Given the description of an element on the screen output the (x, y) to click on. 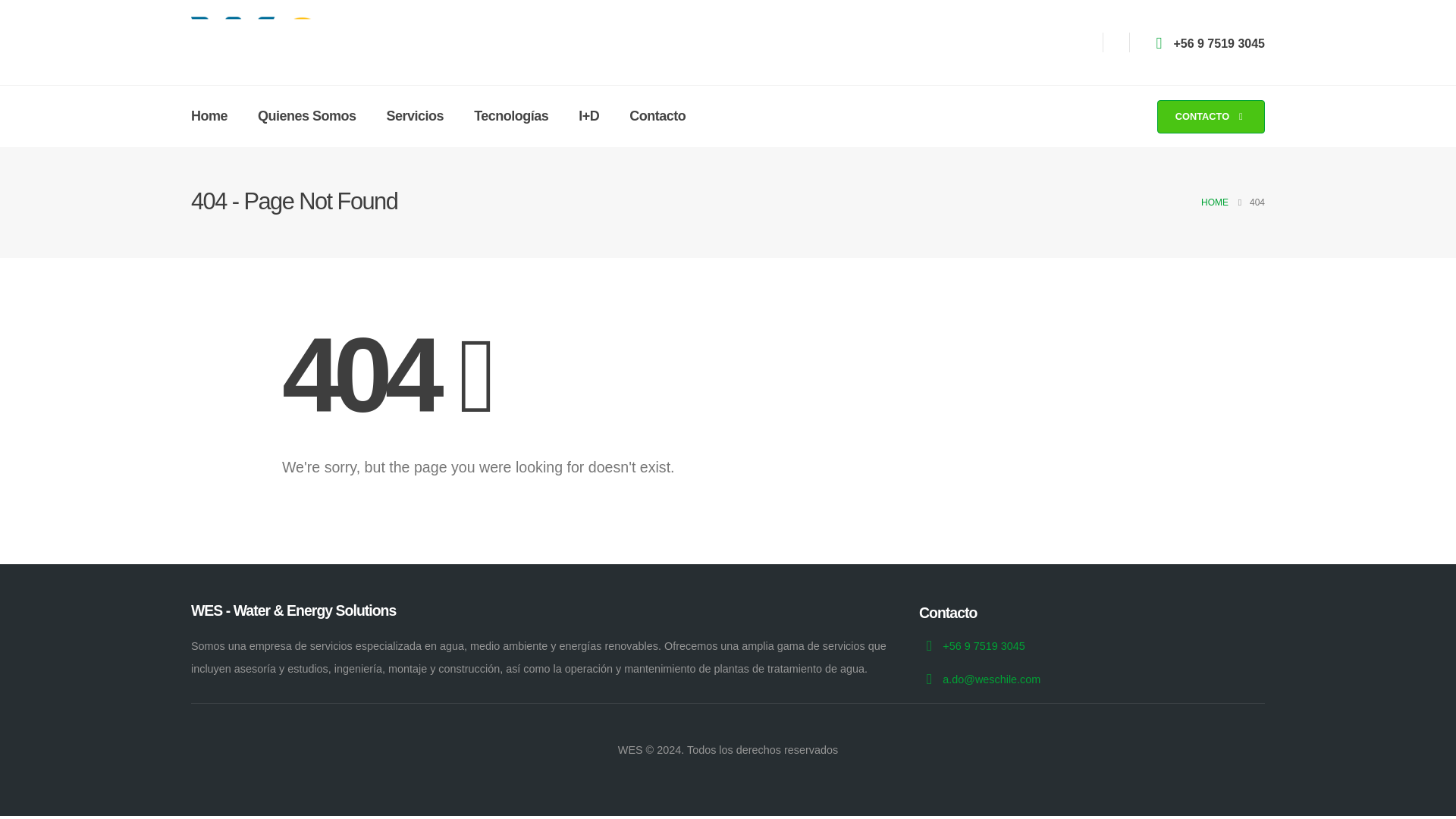
Go to Home Page (1214, 202)
Quienes Somos (306, 116)
Email (991, 679)
Servicios (415, 116)
Contacto (656, 116)
HOME (1214, 202)
CONTACTO (1211, 116)
Contacto (1211, 116)
Phone (1219, 43)
